Given the description of an element on the screen output the (x, y) to click on. 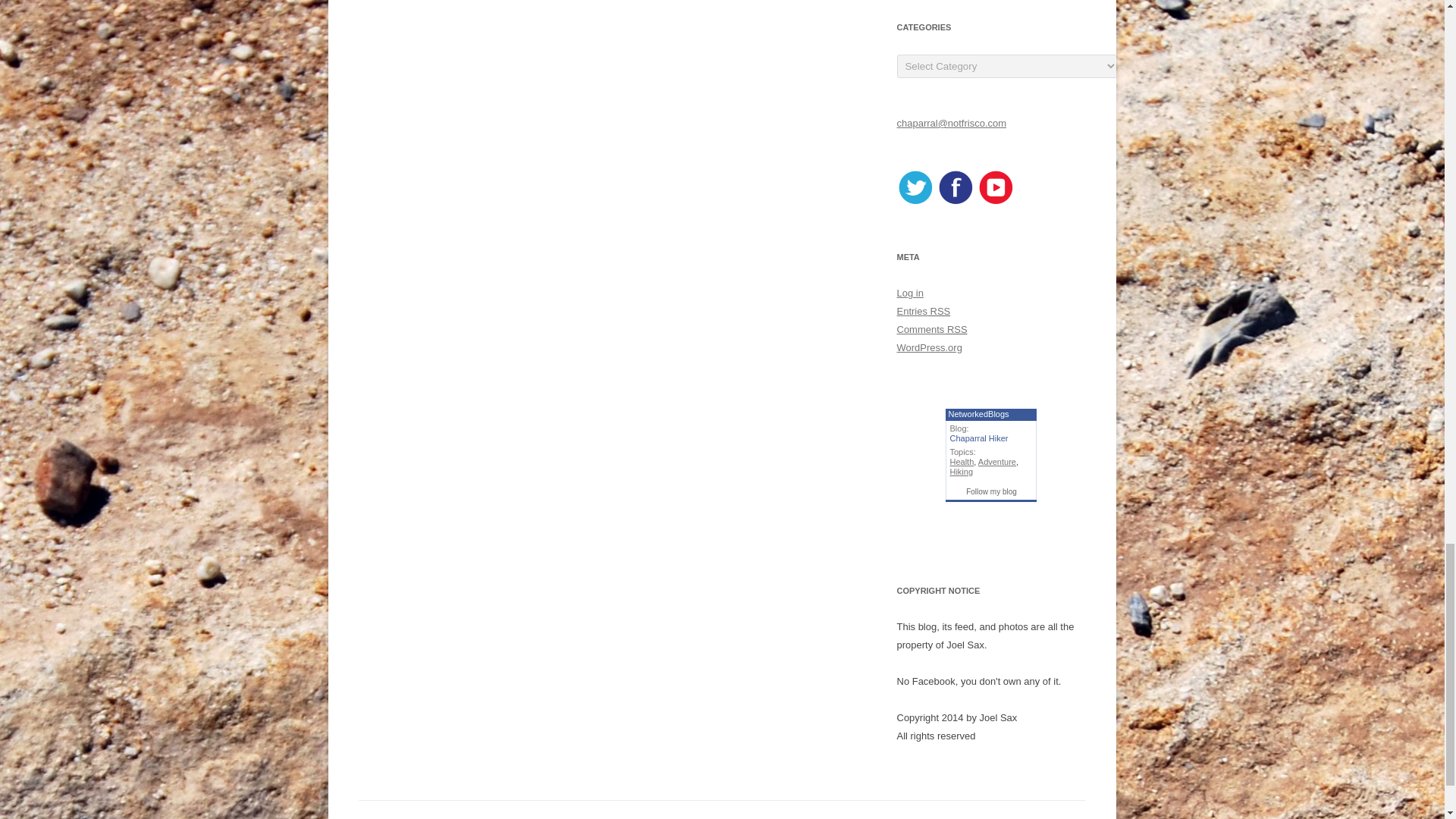
Really Simple Syndication (940, 310)
Really Simple Syndication (957, 328)
Twitter (914, 202)
Youtube (994, 202)
Facebook (955, 202)
